Given the description of an element on the screen output the (x, y) to click on. 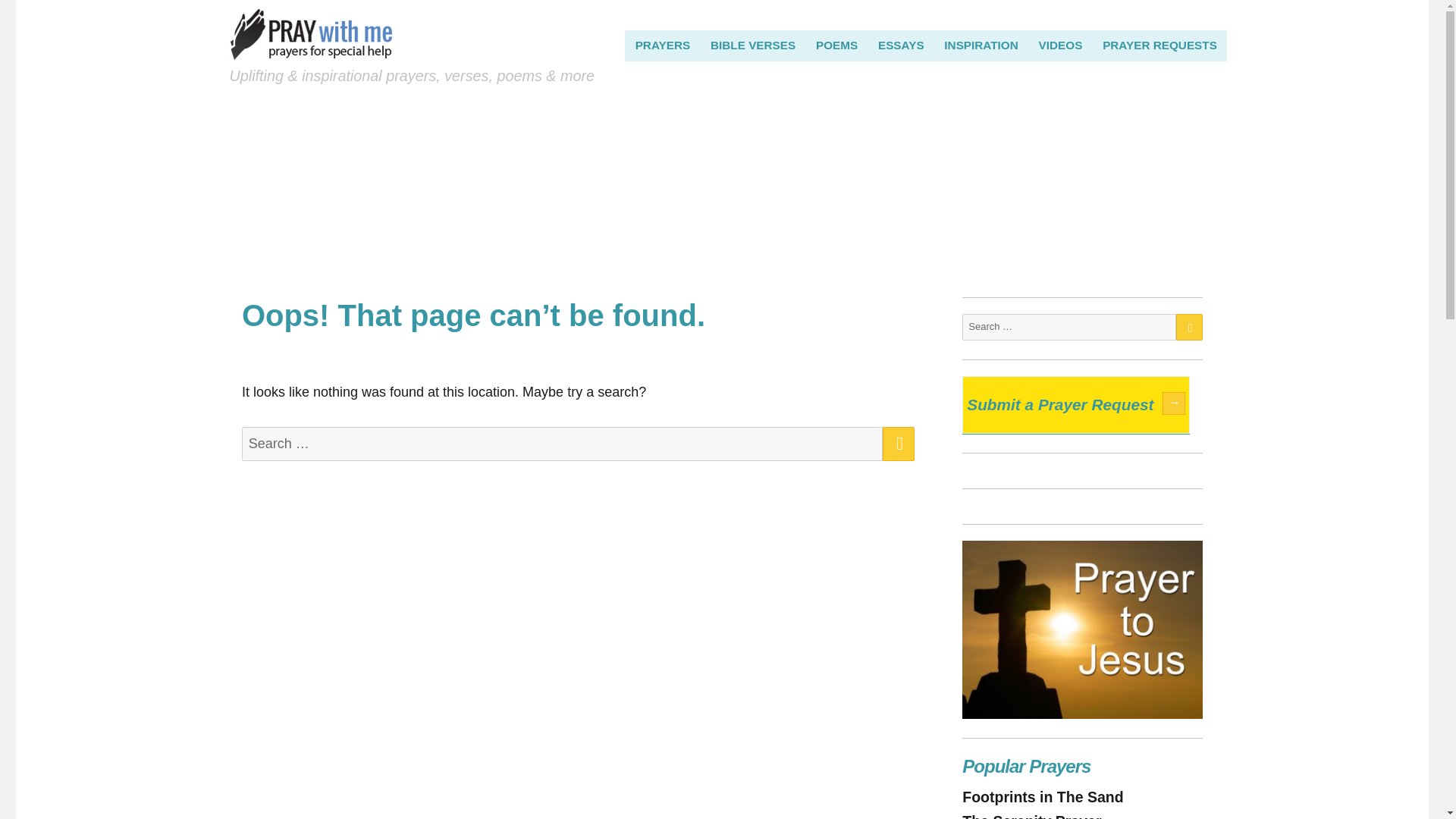
INSPIRATION (980, 45)
PRAYER REQUESTS (1160, 45)
The Serenity Prayer (1031, 816)
ESSAYS (900, 45)
POEMS (836, 45)
VIDEOS (1060, 45)
BIBLE VERSES (753, 45)
Footprints in The Sand (1042, 796)
SEARCH (898, 443)
PRAYERS (662, 45)
